Given the description of an element on the screen output the (x, y) to click on. 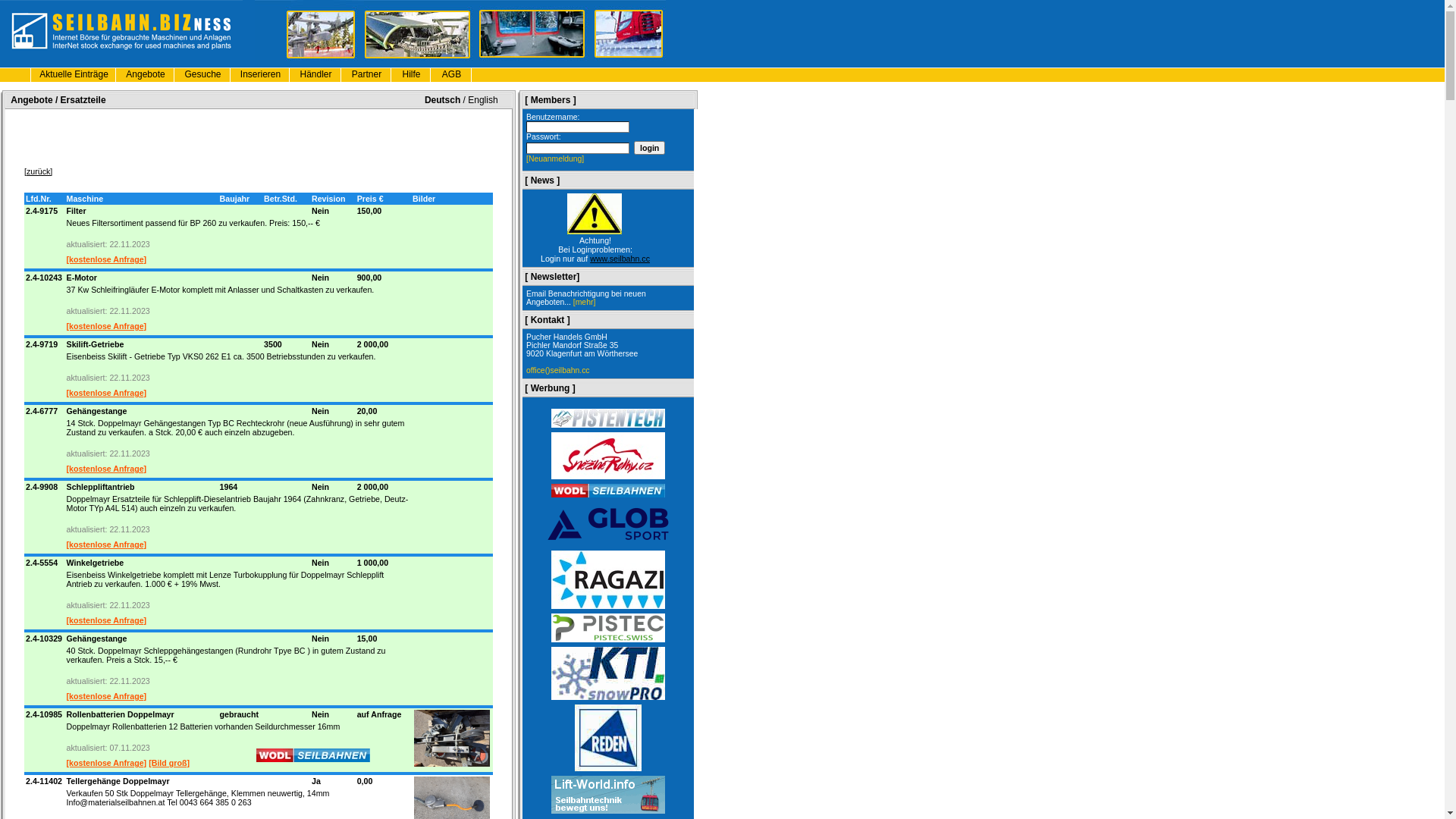
Advertisement Element type: hover (258, 135)
[kostenlose Anfrage] Element type: text (106, 619)
[kostenlose Anfrage] Element type: text (106, 544)
[kostenlose Anfrage] Element type: text (106, 325)
[kostenlose Anfrage] Element type: text (106, 392)
www.seilbahn.cc Element type: text (619, 258)
login Element type: text (649, 147)
office()seilbahn.cc Element type: text (557, 370)
[kostenlose Anfrage] Element type: text (106, 258)
[mehr] Element type: text (584, 302)
[kostenlose Anfrage] Element type: text (106, 468)
[kostenlose Anfrage] Element type: text (106, 695)
[Neuanmeldung] Element type: text (554, 158)
English Element type: text (482, 99)
[kostenlose Anfrage] Element type: text (106, 762)
